Given the description of an element on the screen output the (x, y) to click on. 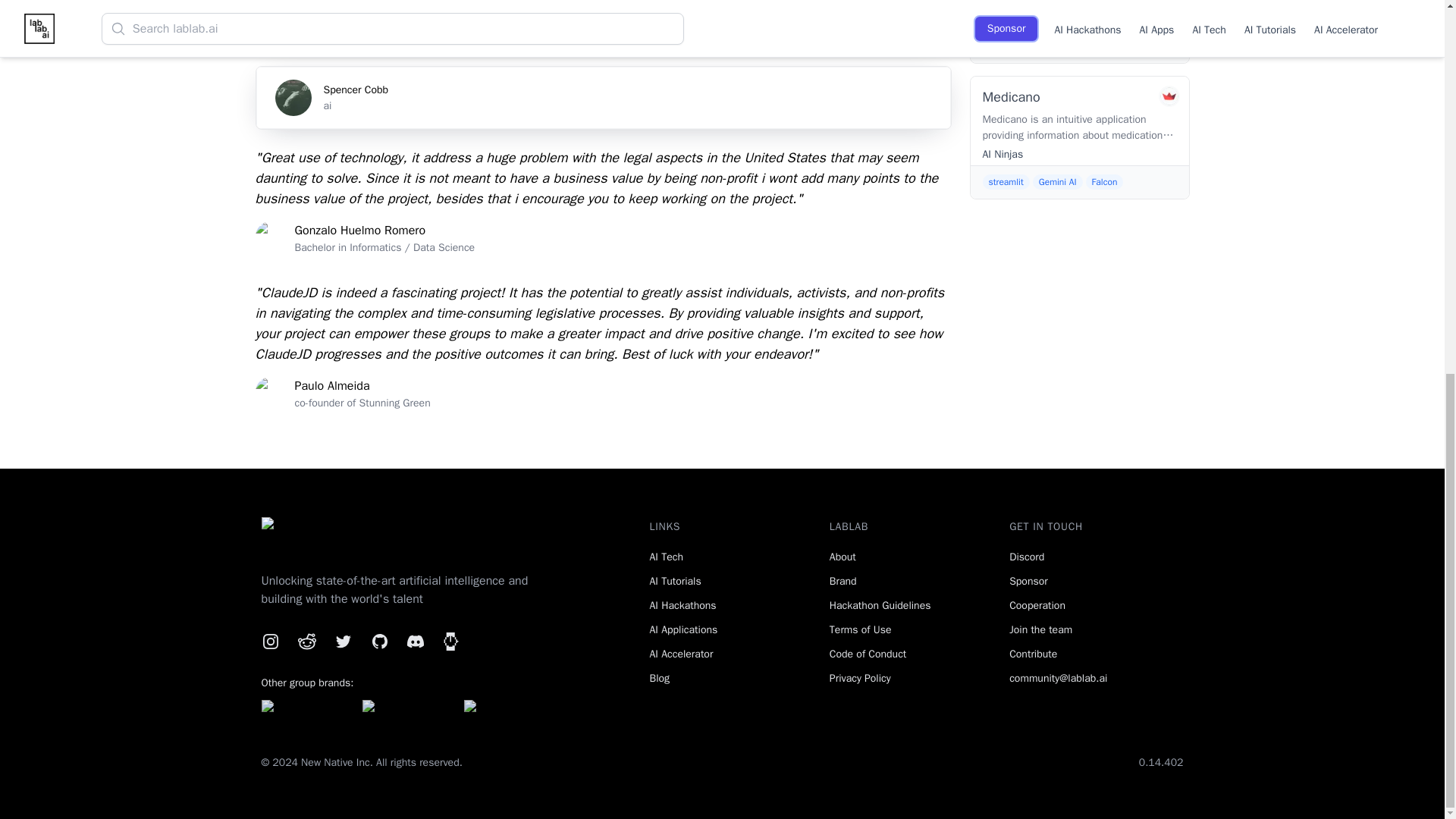
Reddit (602, 393)
Twitter (306, 641)
Presentation (342, 641)
Github (602, 97)
Demo (411, 34)
GitHub (298, 34)
Instagram (520, 34)
